Given the description of an element on the screen output the (x, y) to click on. 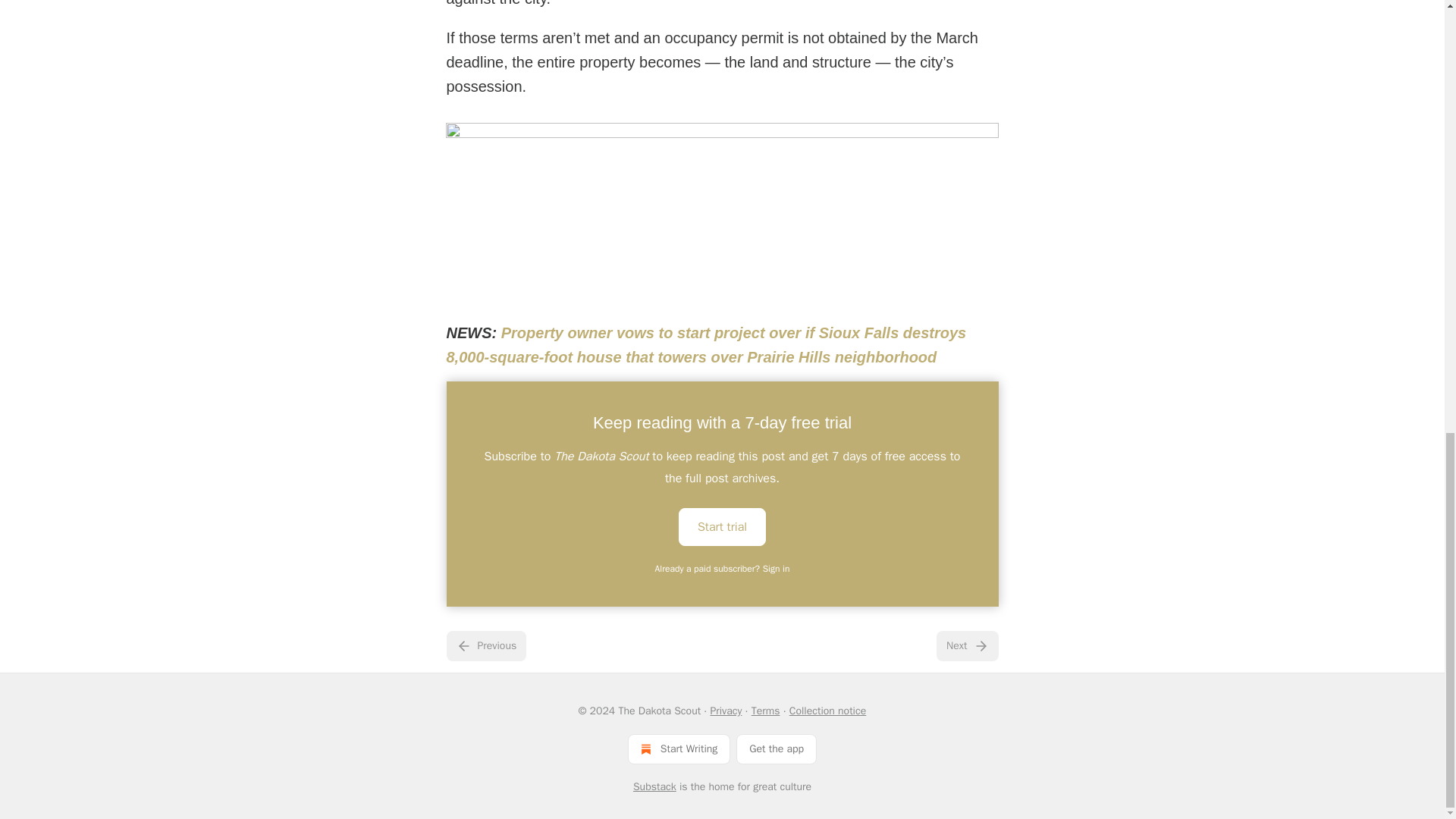
Next (966, 645)
Start trial (721, 526)
Substack (655, 786)
Start trial (721, 525)
Collection notice (827, 710)
Already a paid subscriber? Sign in (722, 568)
Terms (765, 710)
Previous (485, 645)
Privacy (725, 710)
